Given the description of an element on the screen output the (x, y) to click on. 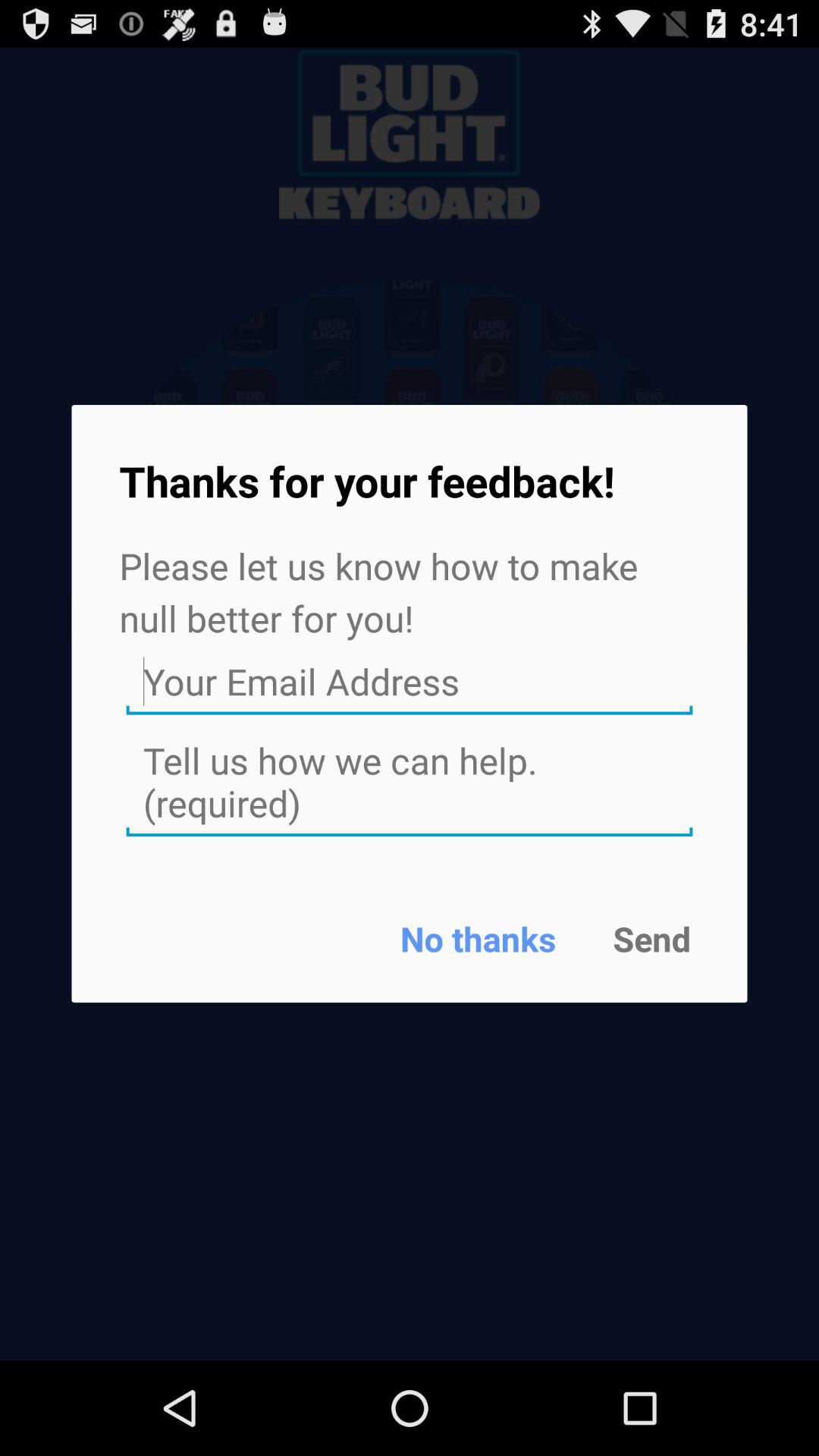
launch the app below please let us app (409, 681)
